Given the description of an element on the screen output the (x, y) to click on. 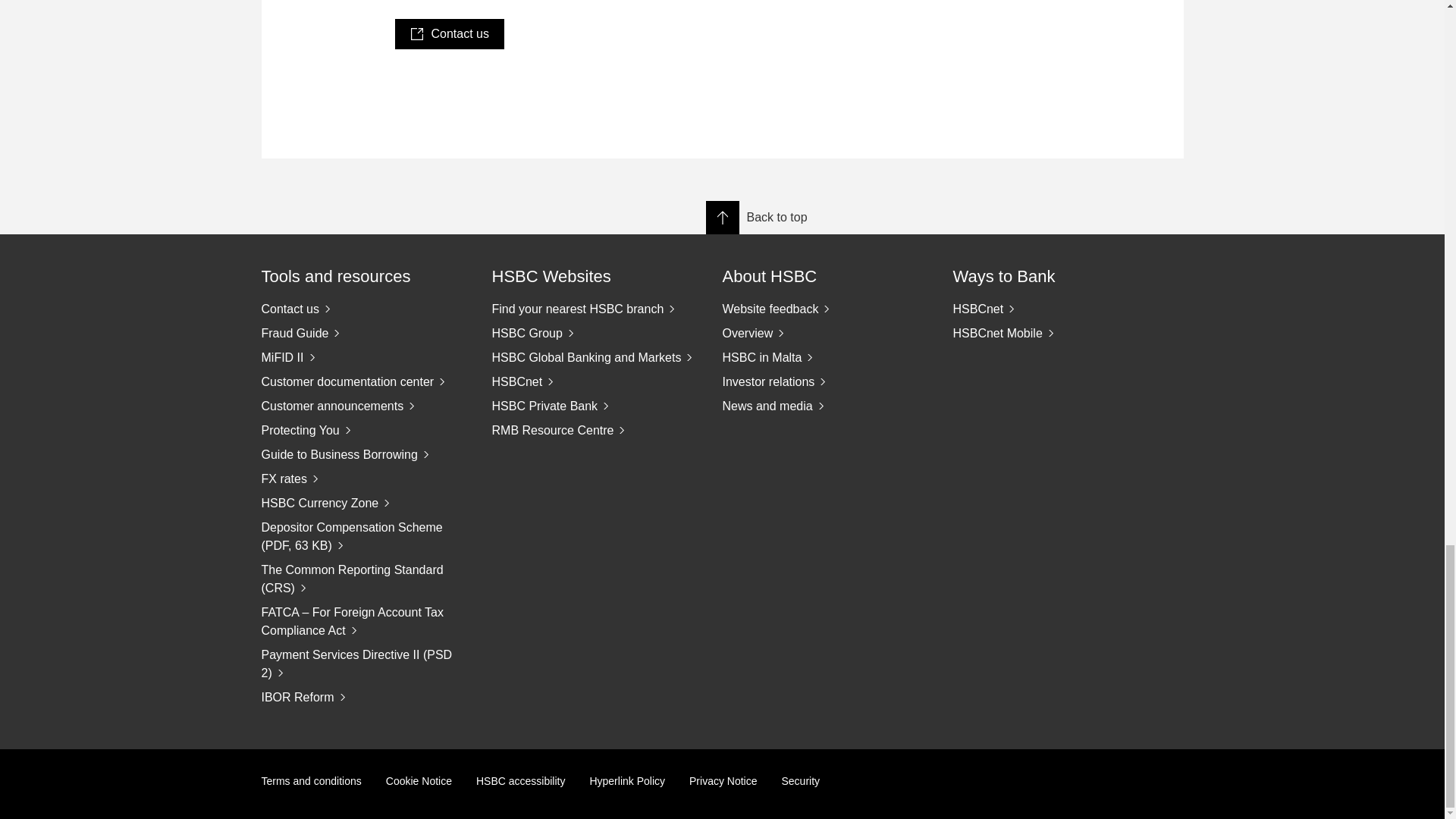
RMB Resource Centre (594, 430)
HSBC Group (594, 333)
MiFID II (363, 357)
Customer documentation center (363, 382)
FX rates (363, 479)
HSBC Global Banking and Markets (594, 357)
IBOR Reform (363, 697)
Customer announcements (363, 406)
Find your nearest HSBC branch (594, 309)
Fraud Guide (363, 333)
